Given the description of an element on the screen output the (x, y) to click on. 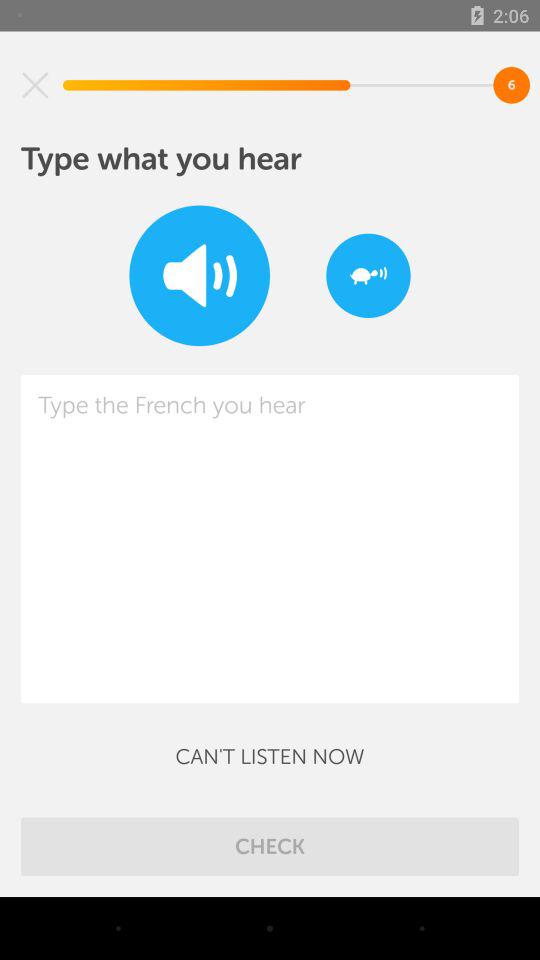
open the item at the top right corner (368, 275)
